Given the description of an element on the screen output the (x, y) to click on. 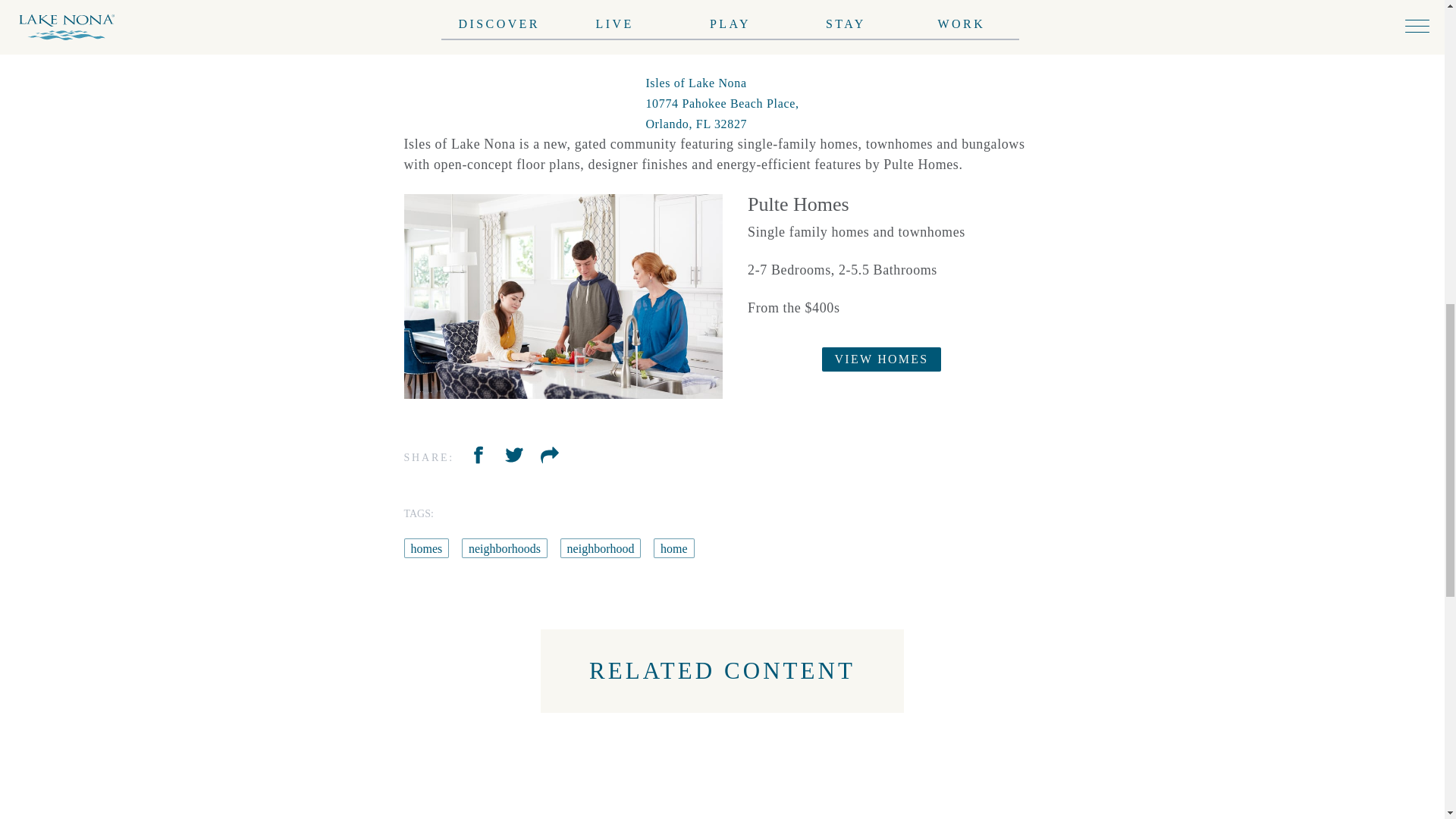
home (673, 547)
homes (425, 547)
neighborhood (601, 547)
Isles of Lake Nona (721, 103)
VIEW HOMES (882, 359)
Isles of Lake Nona 1 (562, 296)
neighborhoods (504, 547)
